Given the description of an element on the screen output the (x, y) to click on. 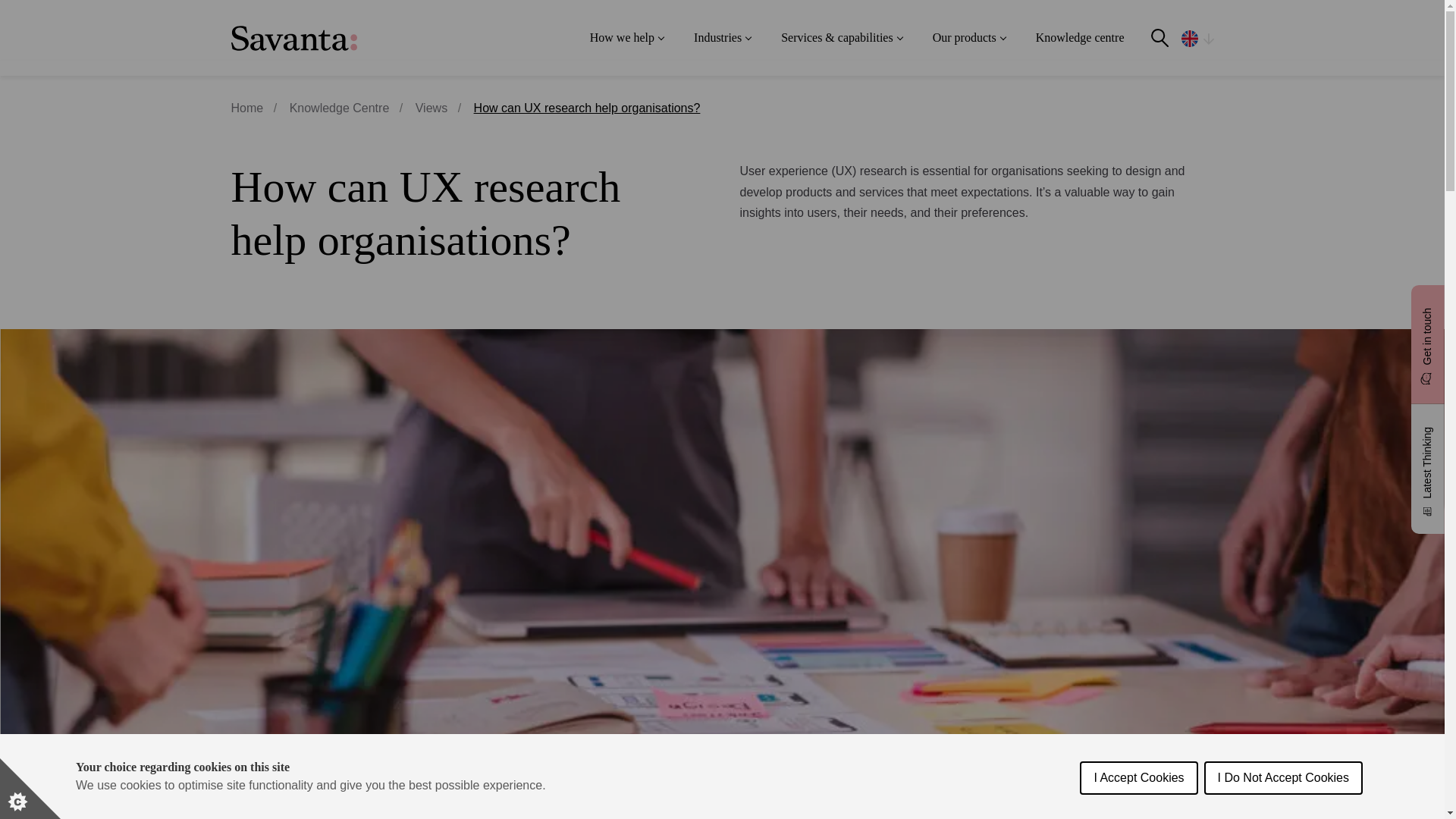
I Do Not Accept Cookies (1283, 815)
How we help (626, 38)
Industries (721, 38)
